Given the description of an element on the screen output the (x, y) to click on. 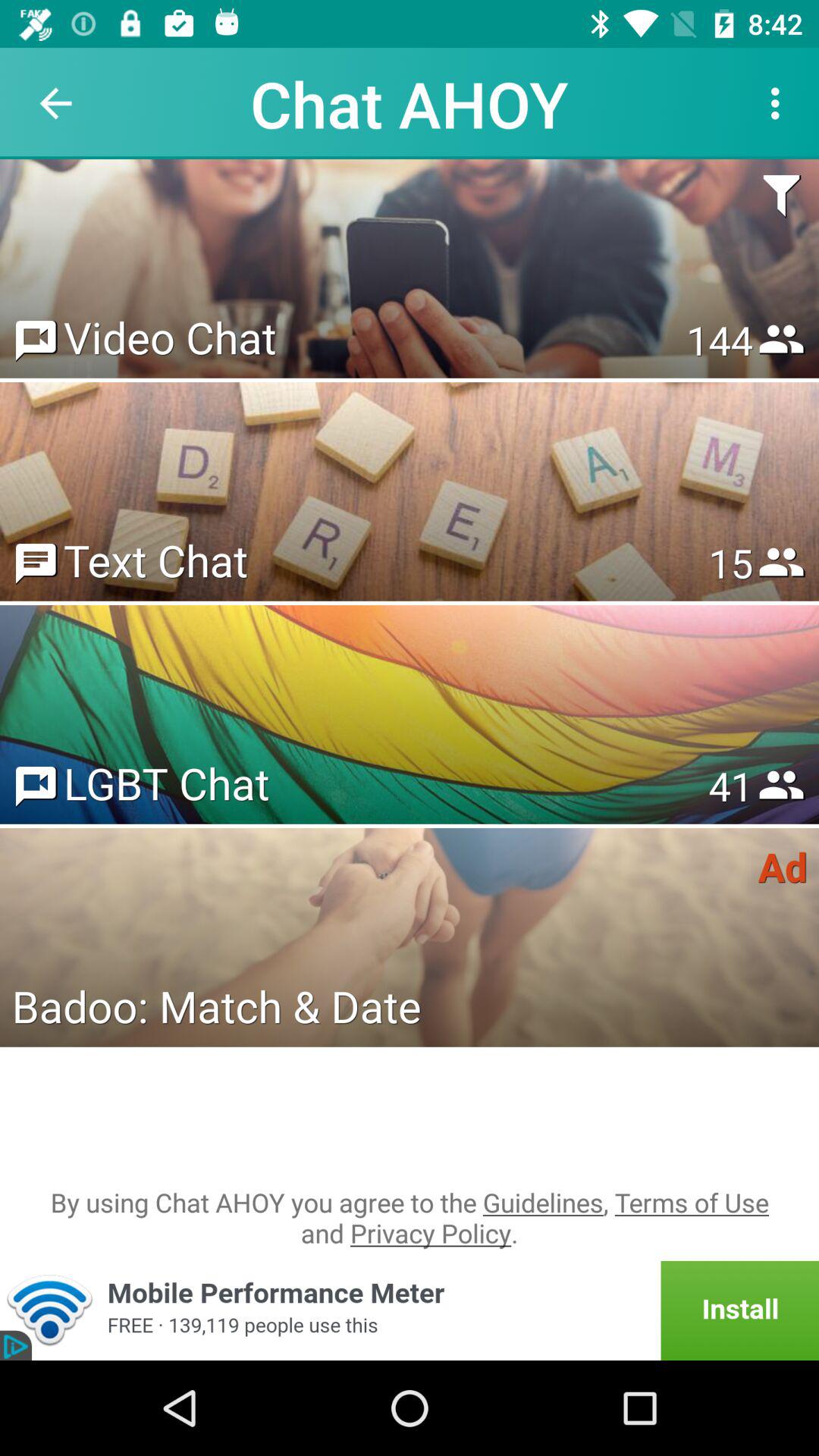
click the item to the left of the chat ahoy (55, 103)
